Given the description of an element on the screen output the (x, y) to click on. 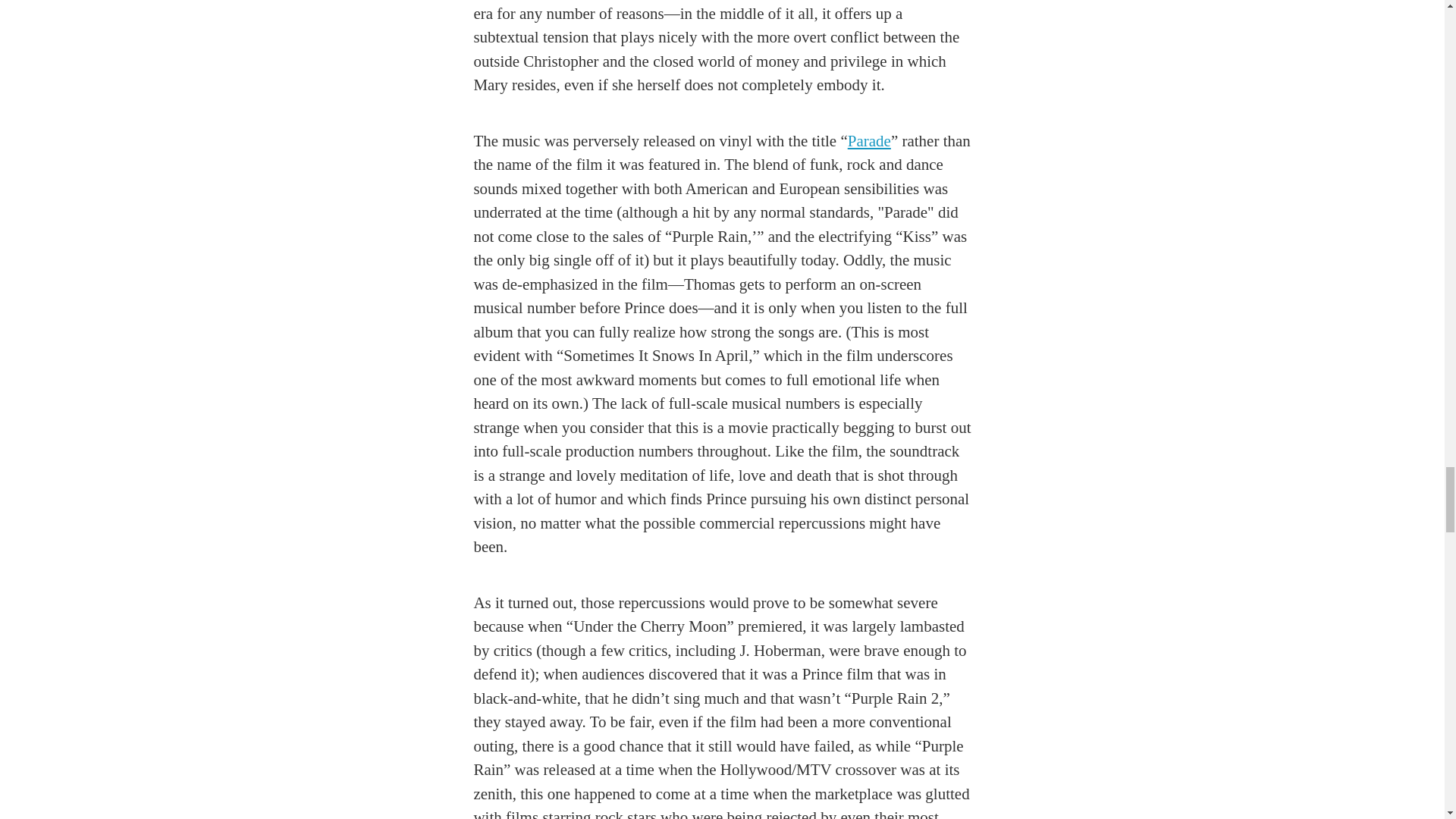
Parade (869, 140)
